Given the description of an element on the screen output the (x, y) to click on. 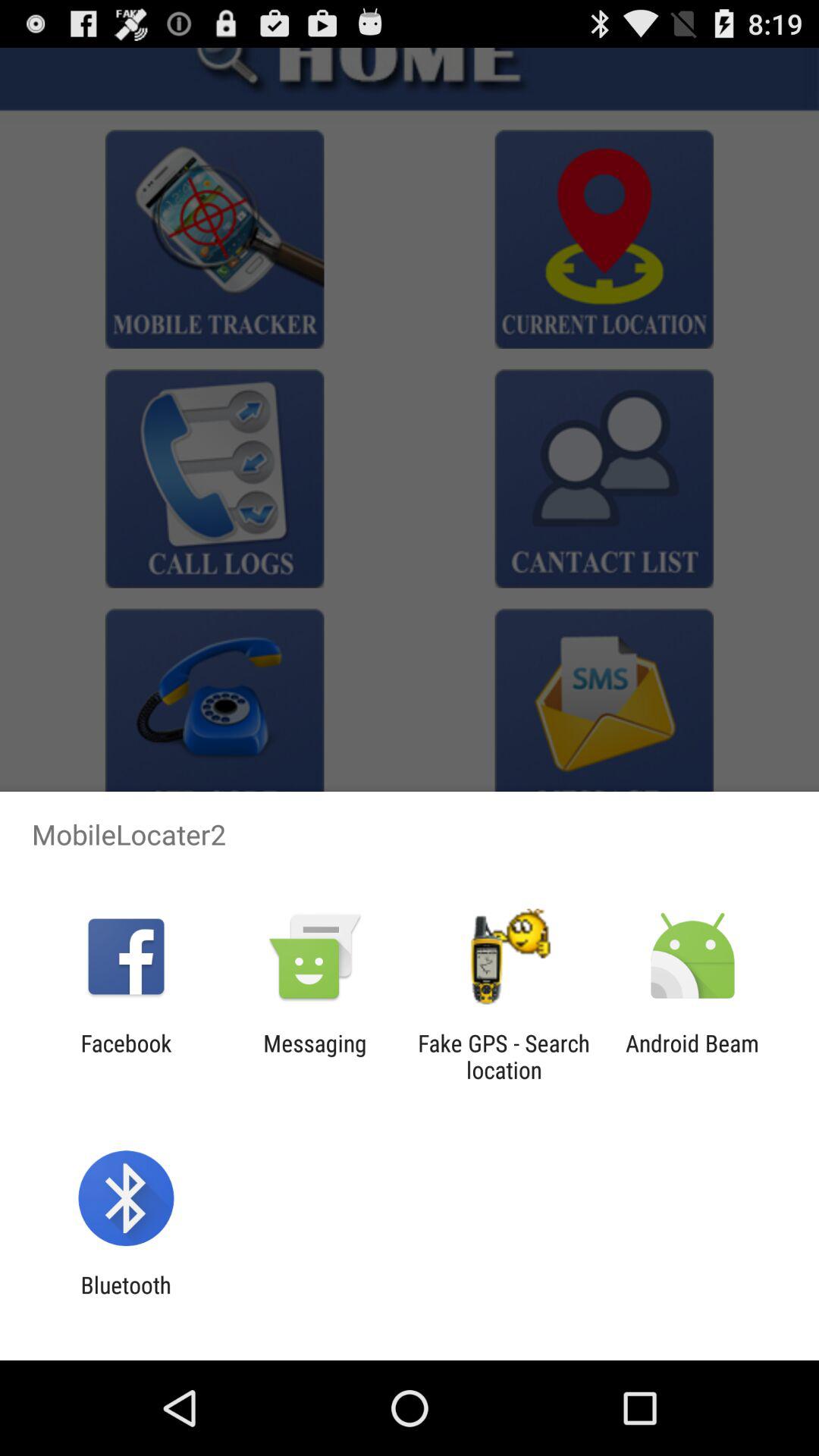
turn on icon to the left of the android beam item (503, 1056)
